Given the description of an element on the screen output the (x, y) to click on. 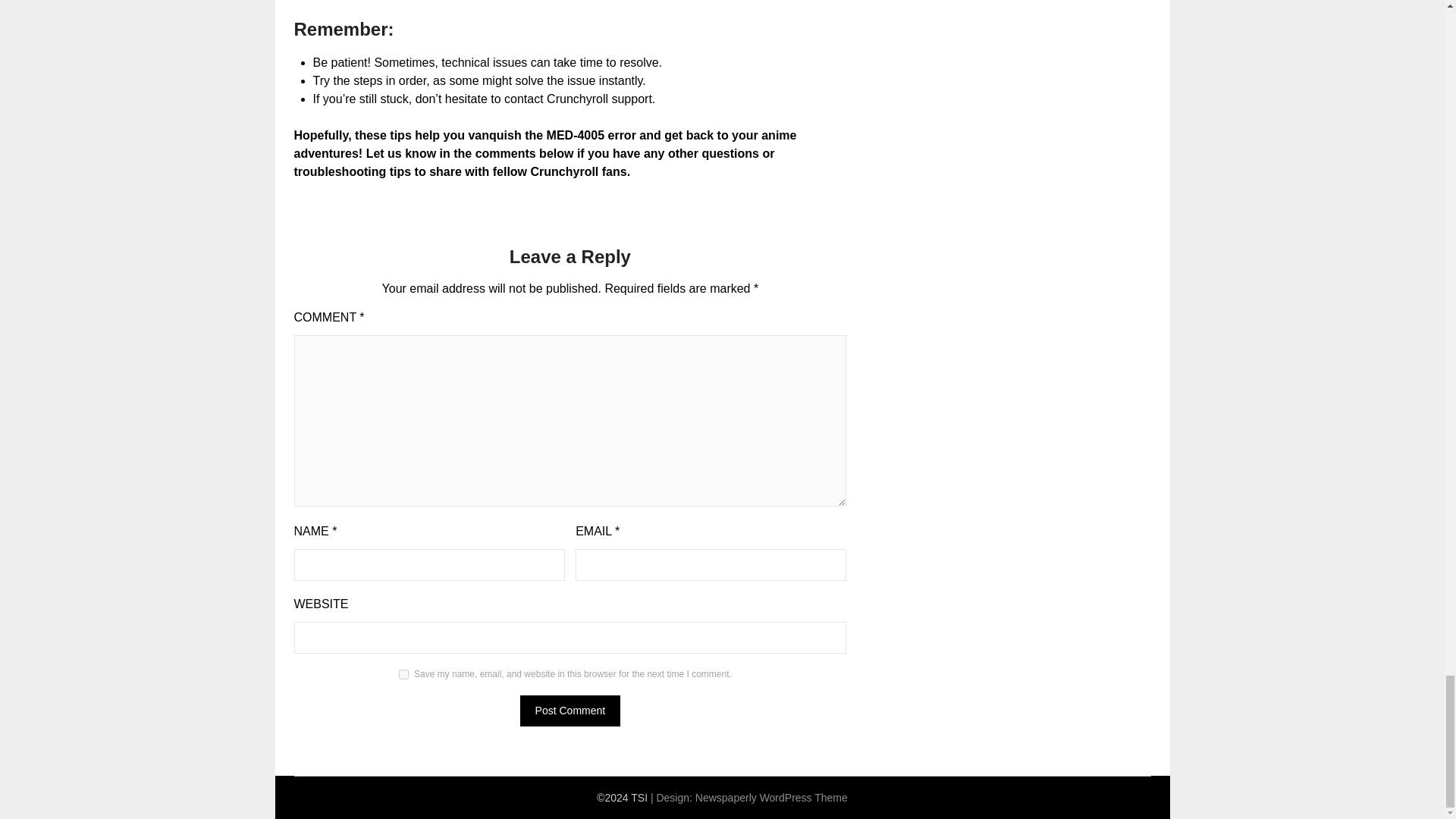
Post Comment (570, 710)
Newspaperly WordPress Theme (771, 797)
Post Comment (570, 710)
yes (403, 674)
